Given the description of an element on the screen output the (x, y) to click on. 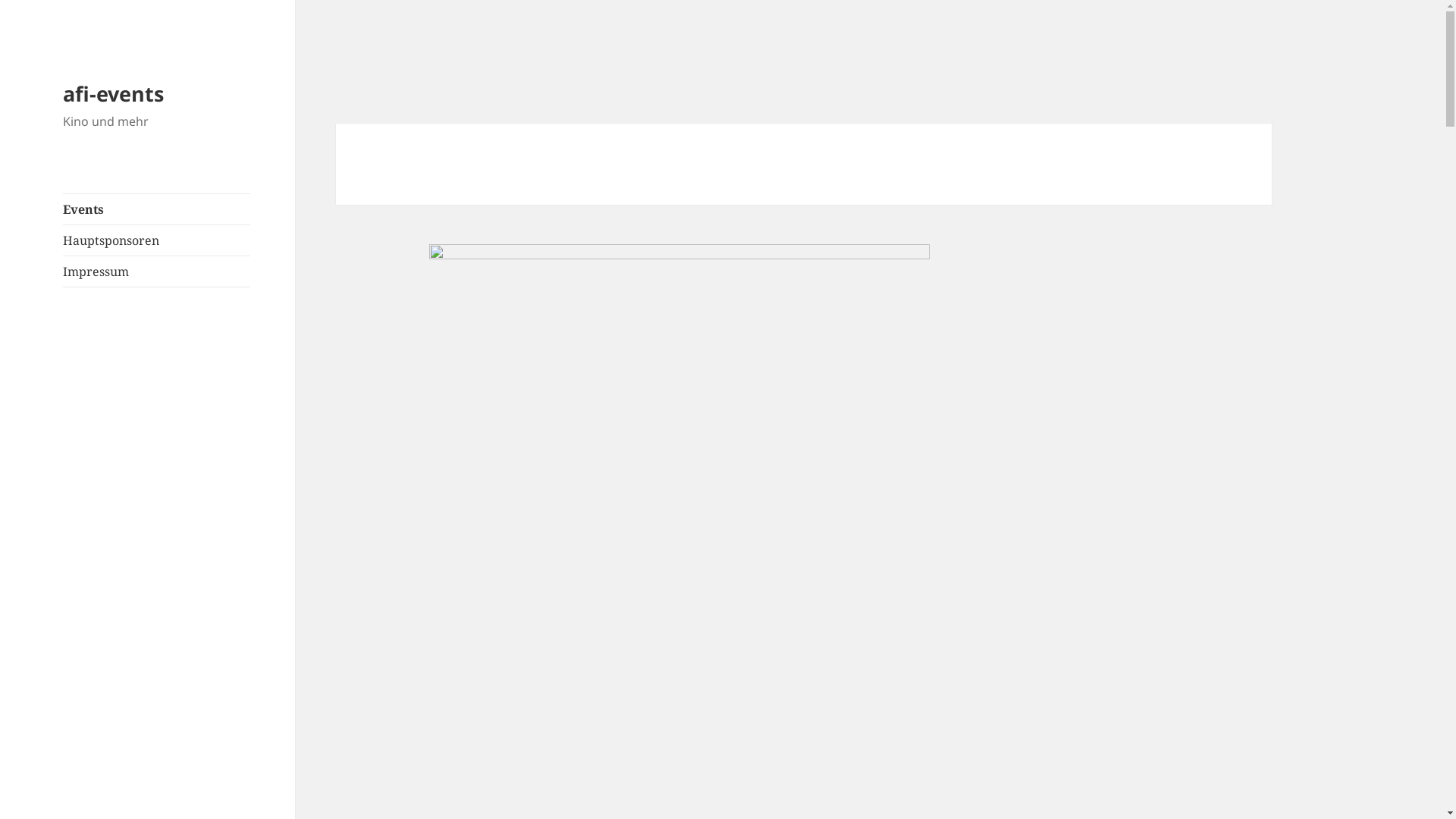
Events Element type: text (156, 209)
afi-events Element type: text (112, 93)
Springe zum Inhalt Element type: text (0, 0)
Impressum Element type: text (156, 271)
Hauptsponsoren Element type: text (156, 240)
